Given the description of an element on the screen output the (x, y) to click on. 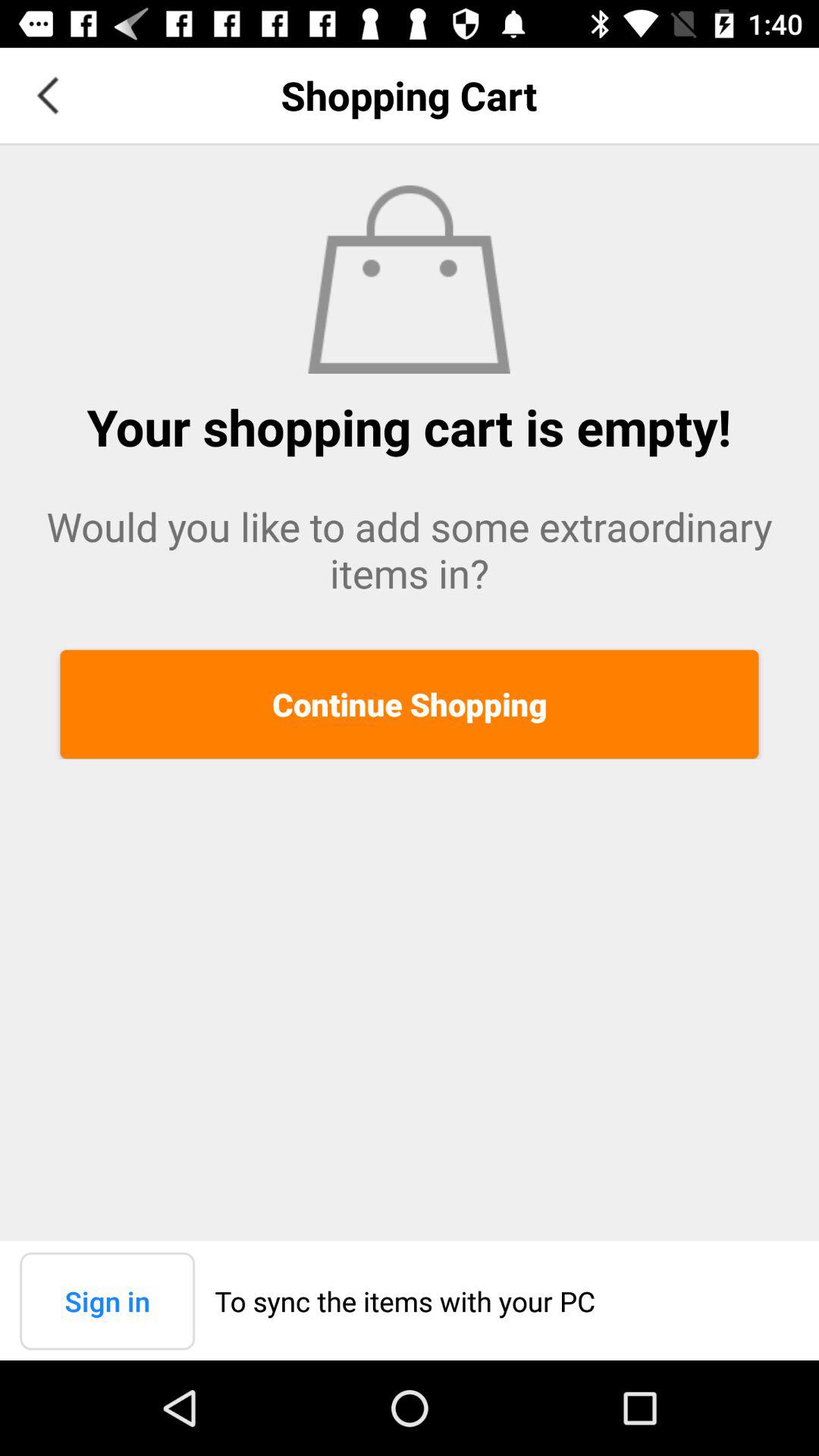
turn off continue shopping item (409, 704)
